Given the description of an element on the screen output the (x, y) to click on. 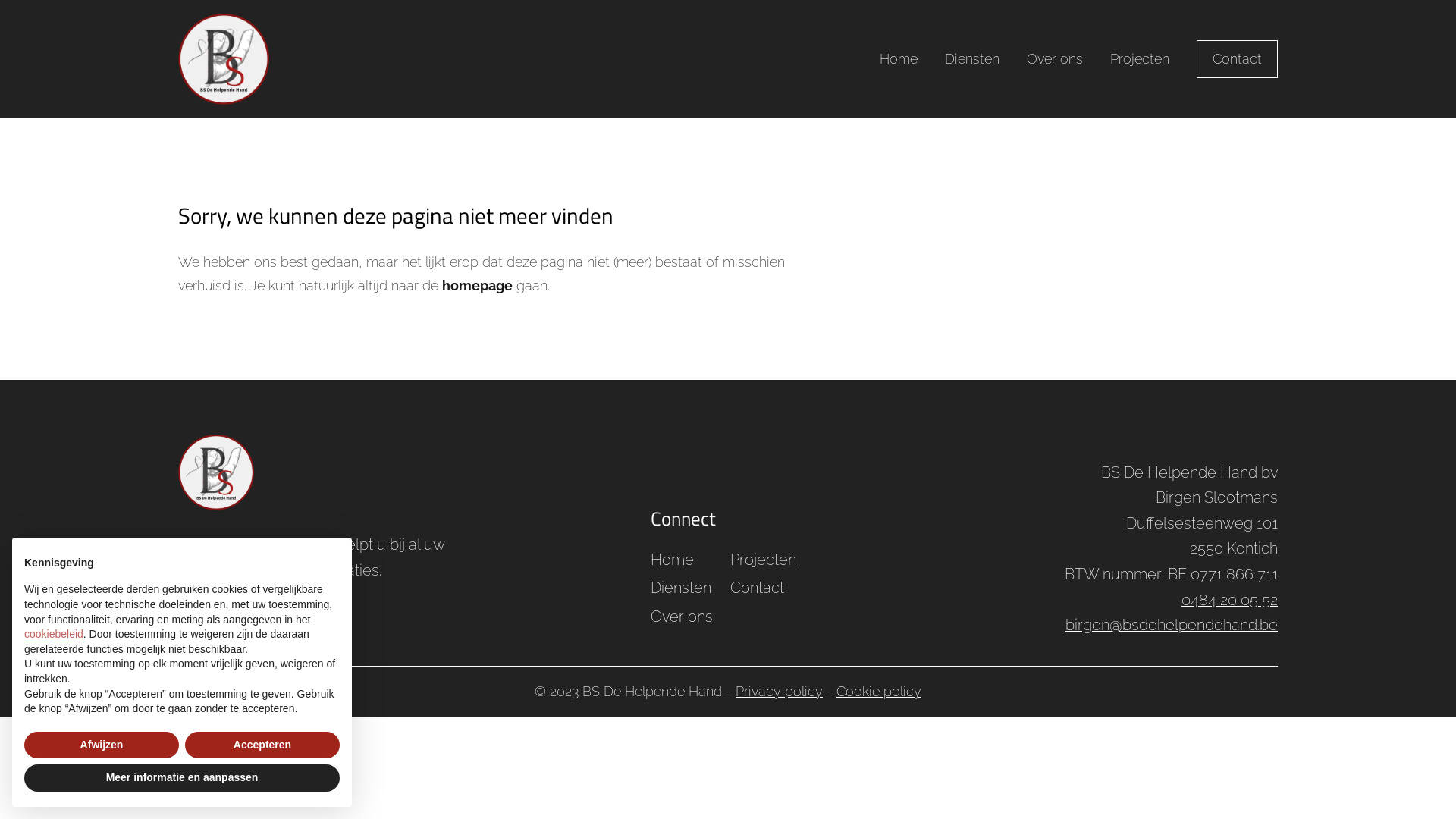
Projecten Element type: text (1139, 59)
Meer informatie en aanpassen Element type: text (181, 777)
Home Element type: text (898, 59)
Diensten Element type: text (971, 59)
Over ons Element type: text (1054, 59)
homepage Element type: text (477, 285)
Contact Element type: text (1236, 59)
Projecten Element type: text (763, 566)
Afwijzen Element type: text (101, 745)
Privacy policy Element type: text (778, 691)
Diensten Element type: text (683, 594)
Over ons Element type: text (683, 623)
birgen@bsdehelpendehand.be Element type: text (1171, 624)
Contact Element type: text (763, 594)
Cookie policy Element type: text (878, 691)
Home Element type: text (683, 566)
Accepteren Element type: text (262, 745)
cookiebeleid Element type: text (53, 633)
0484 20 05 52 Element type: text (1229, 599)
